Given the description of an element on the screen output the (x, y) to click on. 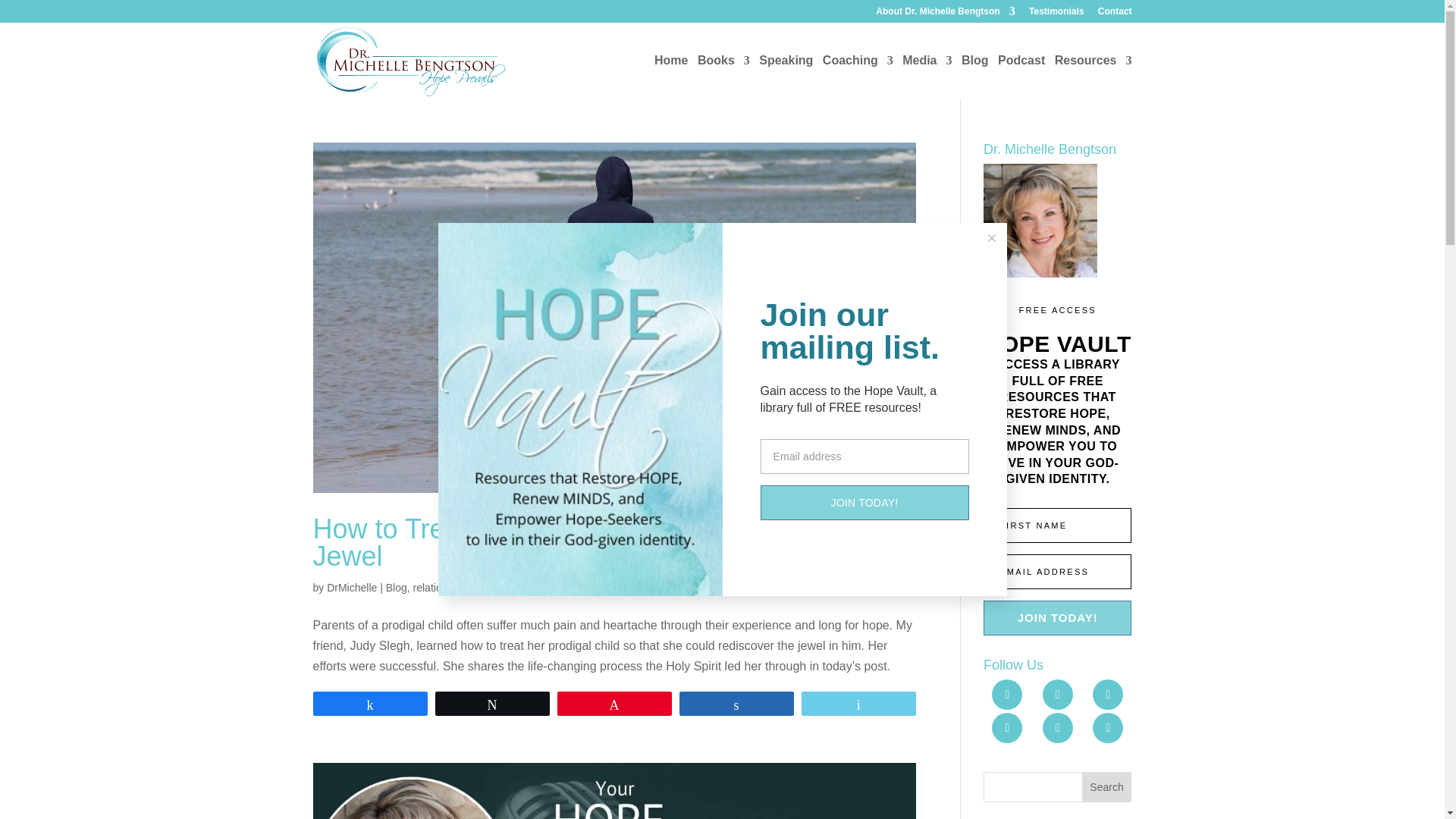
Media (927, 76)
Testimonials (1056, 14)
Coaching (857, 76)
Podcast (1021, 76)
Speaking (785, 76)
About Dr. Michelle Bengtson (945, 14)
Posts by DrMichelle (351, 587)
Search (1106, 787)
Resources (1093, 76)
Books (723, 76)
Contact (1114, 14)
